Given the description of an element on the screen output the (x, y) to click on. 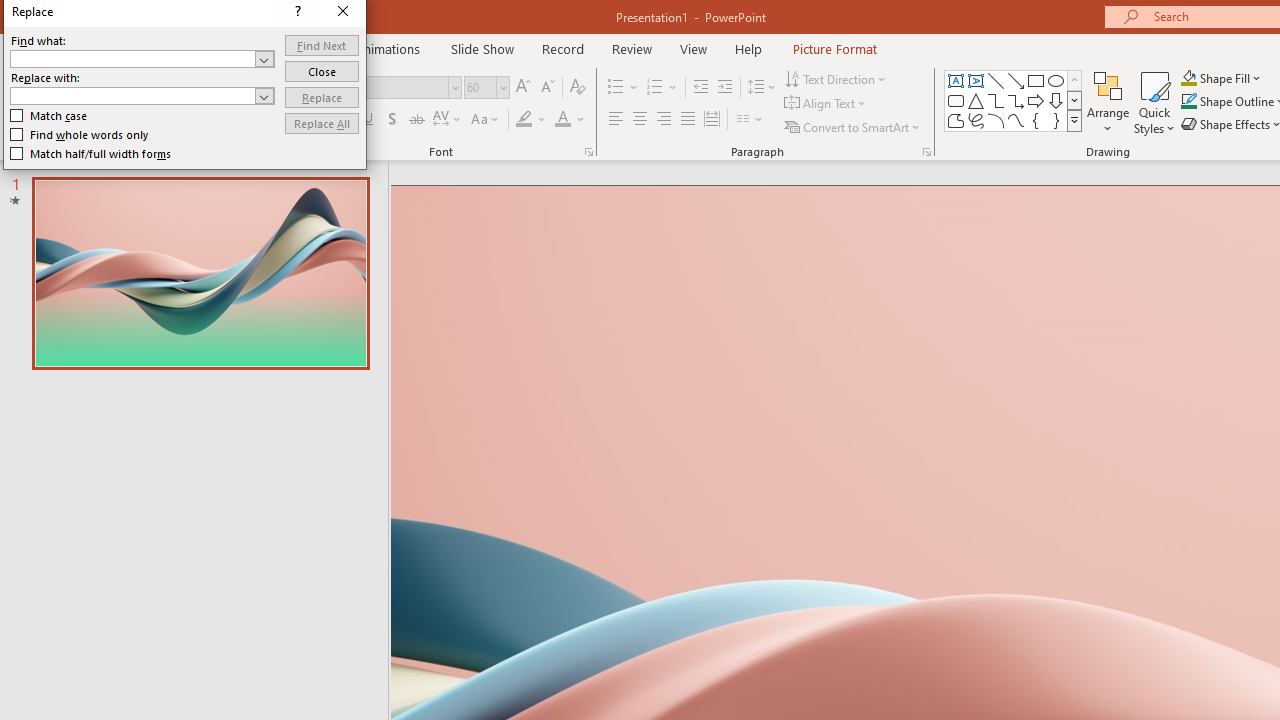
Match half/full width forms (432, 391)
Replace with (509, 351)
